Given the description of an element on the screen output the (x, y) to click on. 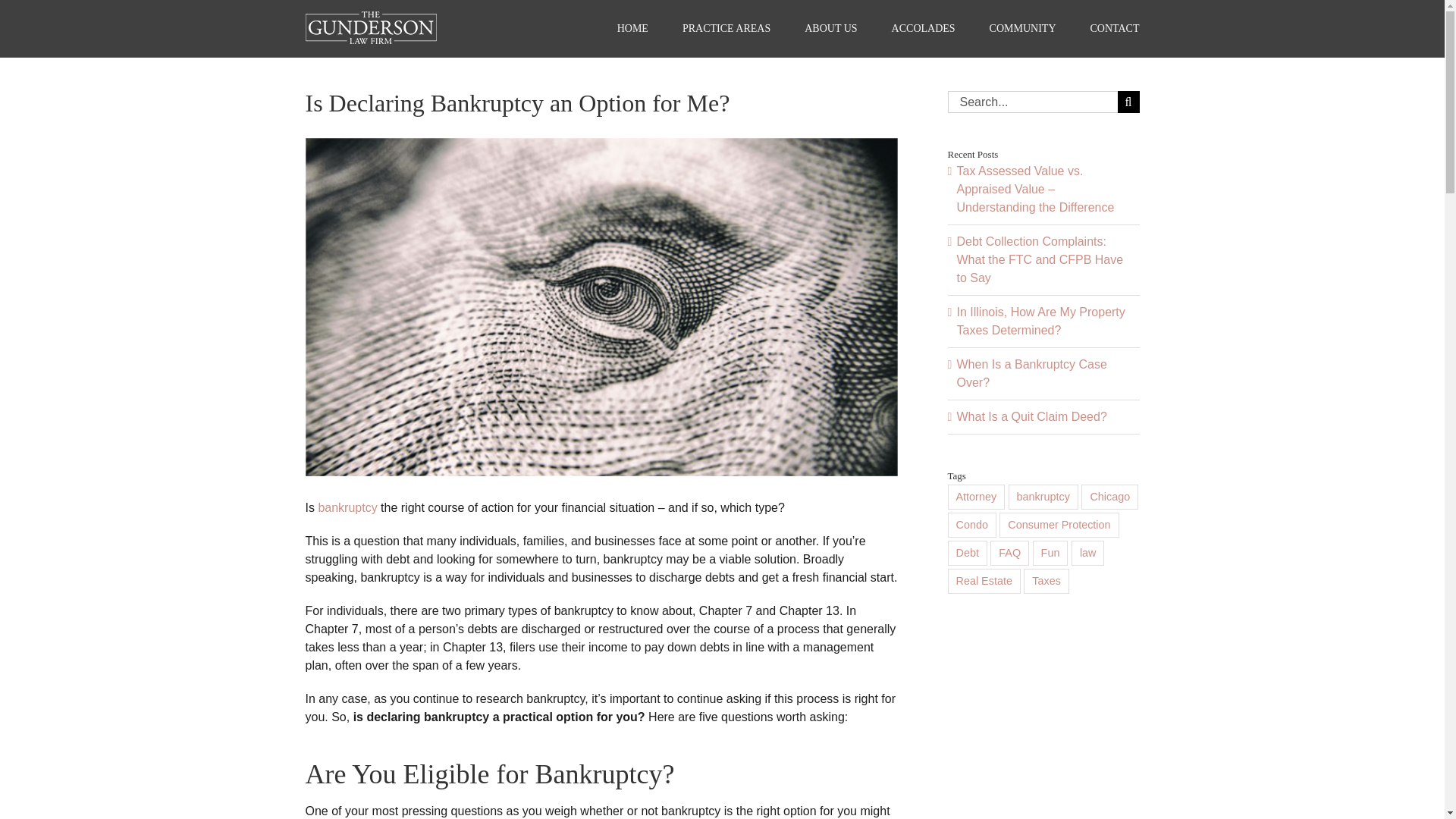
PRACTICE AREAS (726, 28)
COMMUNITY (1023, 28)
ACCOLADES (923, 28)
ABOUT US (831, 28)
bankruptcy (347, 507)
